Given the description of an element on the screen output the (x, y) to click on. 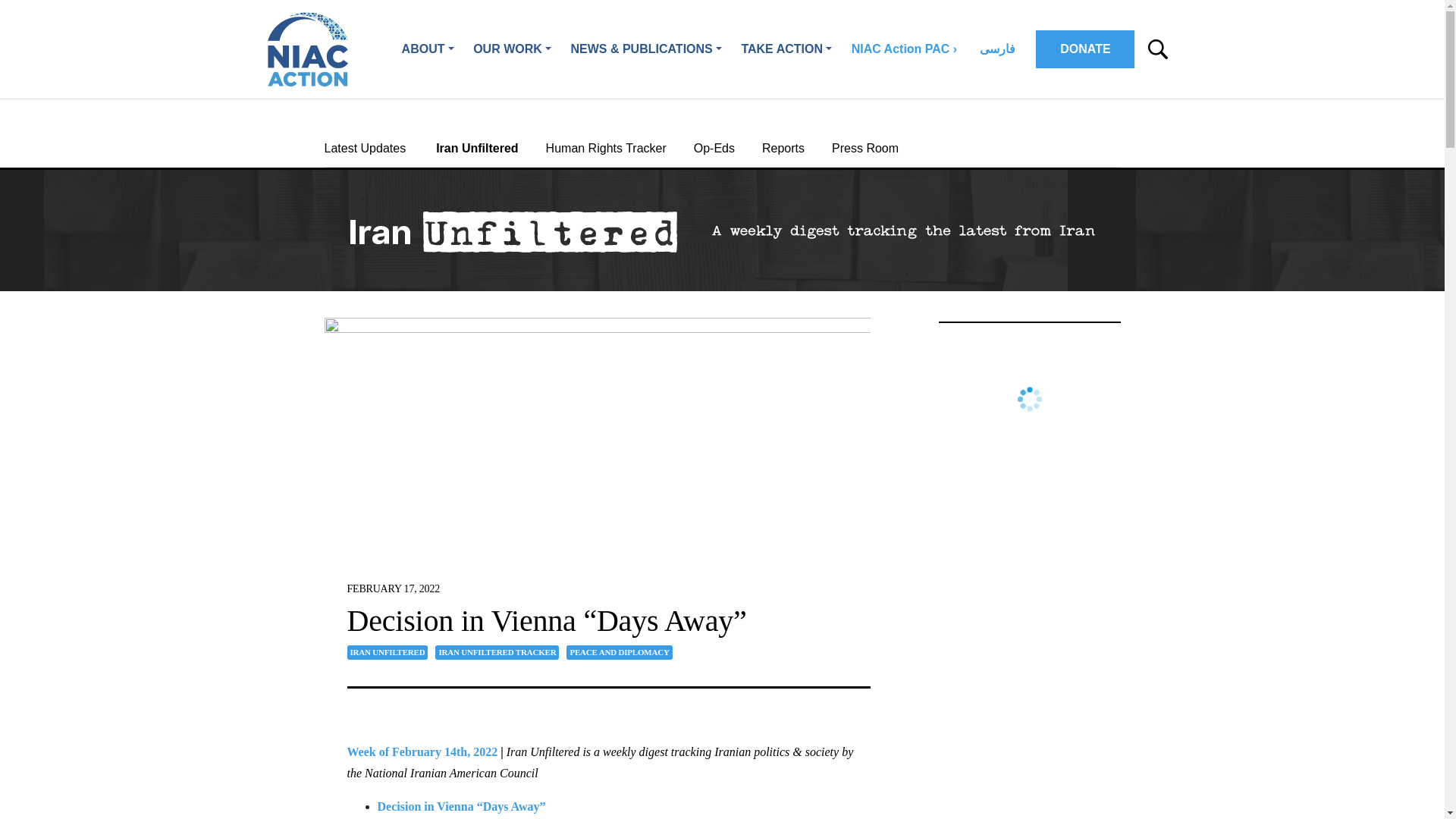
ABOUT (427, 49)
OUR WORK (511, 49)
TAKE ACTION (786, 49)
